Given the description of an element on the screen output the (x, y) to click on. 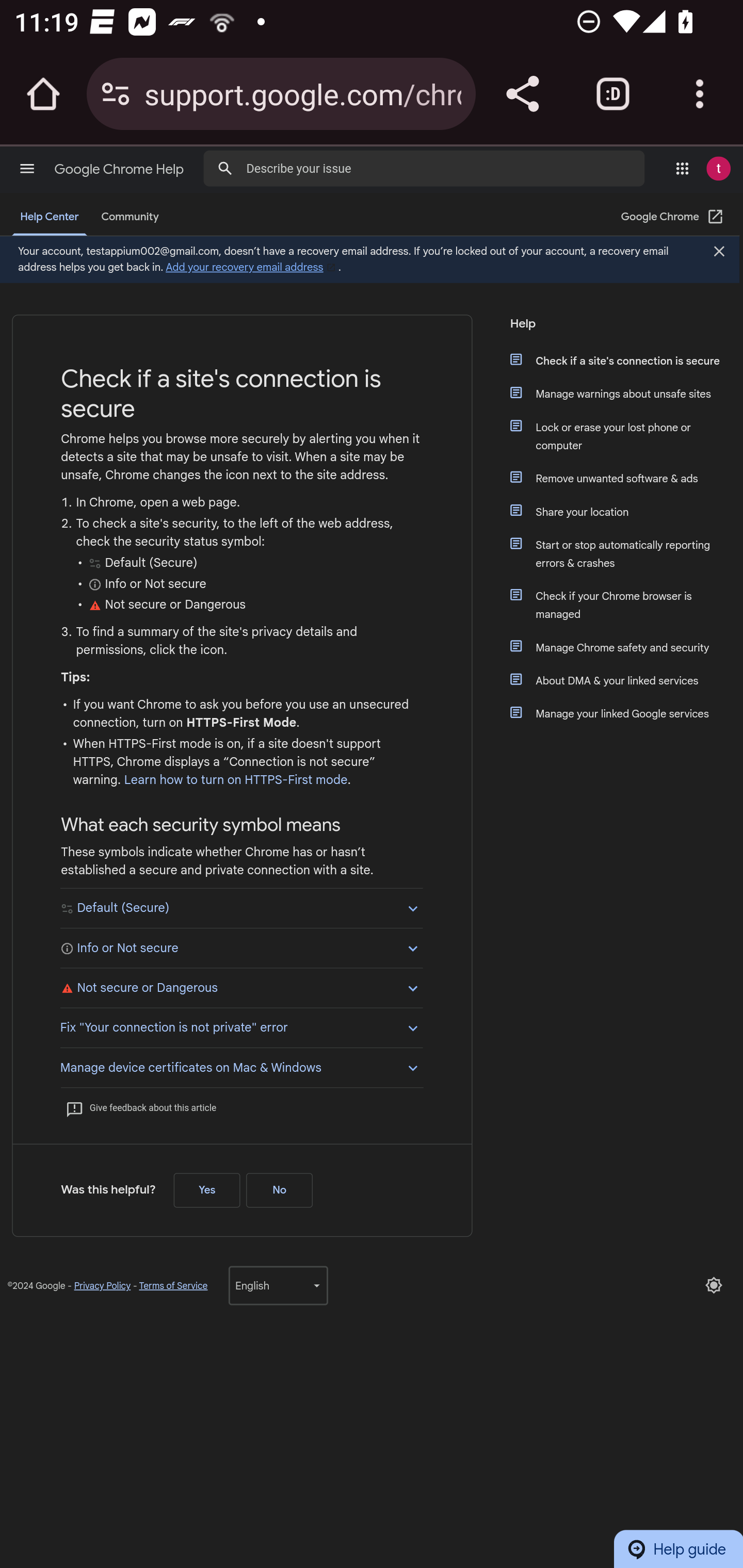
Open the home page (43, 93)
Connection is secure (115, 93)
Share (522, 93)
Switch or close tabs (612, 93)
Customize and control Google Chrome (699, 93)
Main menu (27, 168)
Google Chrome Help (120, 169)
Search Help Center (224, 167)
Google apps (681, 168)
Help Center (48, 217)
Community (129, 217)
Google Chrome (Open in a new window) Google Chrome (672, 217)
Close (718, 252)
Add your recovery email address (251, 267)
Help Help Help (618, 328)
Check if a site's connection is secure (626, 360)
Manage warnings about unsafe sites (626, 393)
Lock or erase your lost phone or computer (626, 436)
Remove unwanted software & ads (626, 477)
Share your location (626, 511)
Check if your Chrome browser is managed (626, 604)
Manage Chrome safety and security (626, 647)
About DMA & your linked services (626, 680)
Manage your linked Google services (626, 713)
Learn how to turn on HTTPS-First mode (235, 779)
Default (Secure) Default (Secure) (240, 907)
View site information Info or Not secure (240, 946)
Dangerous Not secure or Dangerous (240, 987)
Fix "Your connection is not private" error (240, 1026)
Manage device certificates on Mac & Windows (240, 1065)
Give feedback about this article (140, 1107)
Yes (Was this helpful?) (206, 1189)
No (Was this helpful?) (278, 1189)
Language (English‎) (277, 1284)
Disable Dark Mode (713, 1284)
Privacy Policy (101, 1285)
Terms of Service (173, 1285)
Help guide (677, 1548)
